Given the description of an element on the screen output the (x, y) to click on. 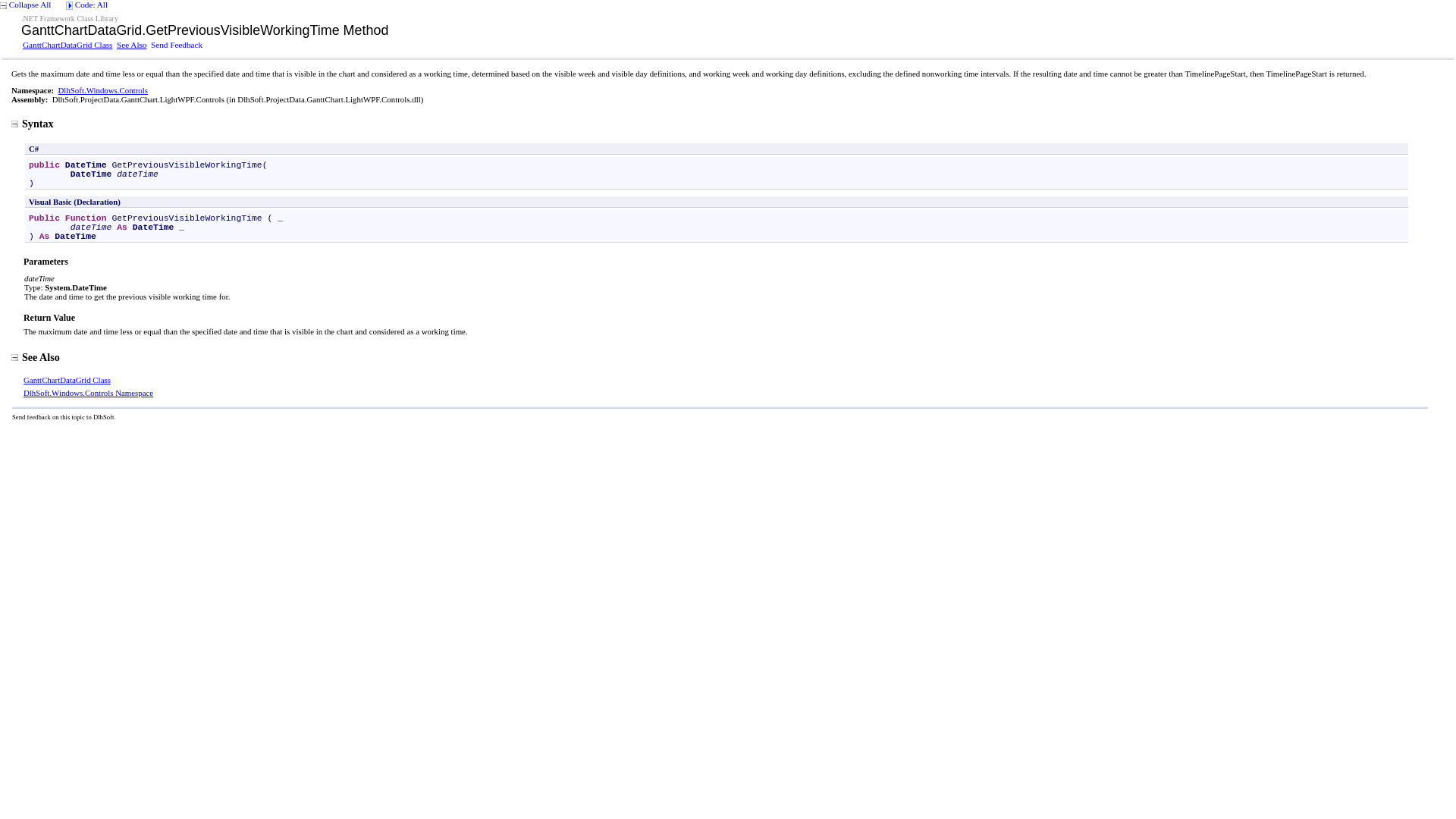
Send Feedback (176, 44)
DlhSoft.Windows.Controls Namespace (87, 392)
See Also (131, 44)
feedback (38, 416)
DlhSoft.Windows.Controls (103, 90)
GanttChartDataGrid Class (66, 379)
GanttChartDataGrid Class (67, 44)
